Given the description of an element on the screen output the (x, y) to click on. 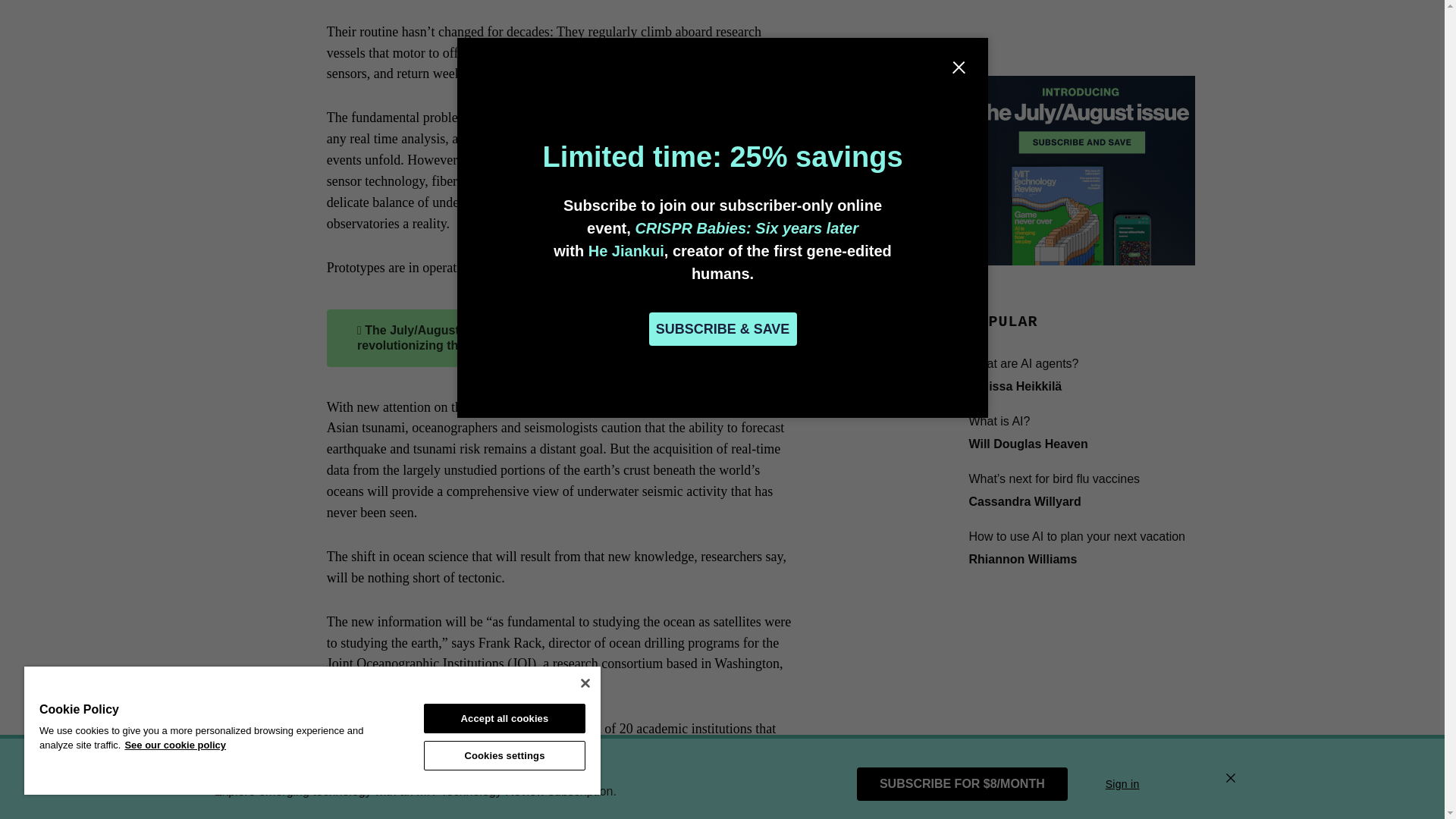
3rd party ad content (1081, 52)
